Given the description of an element on the screen output the (x, y) to click on. 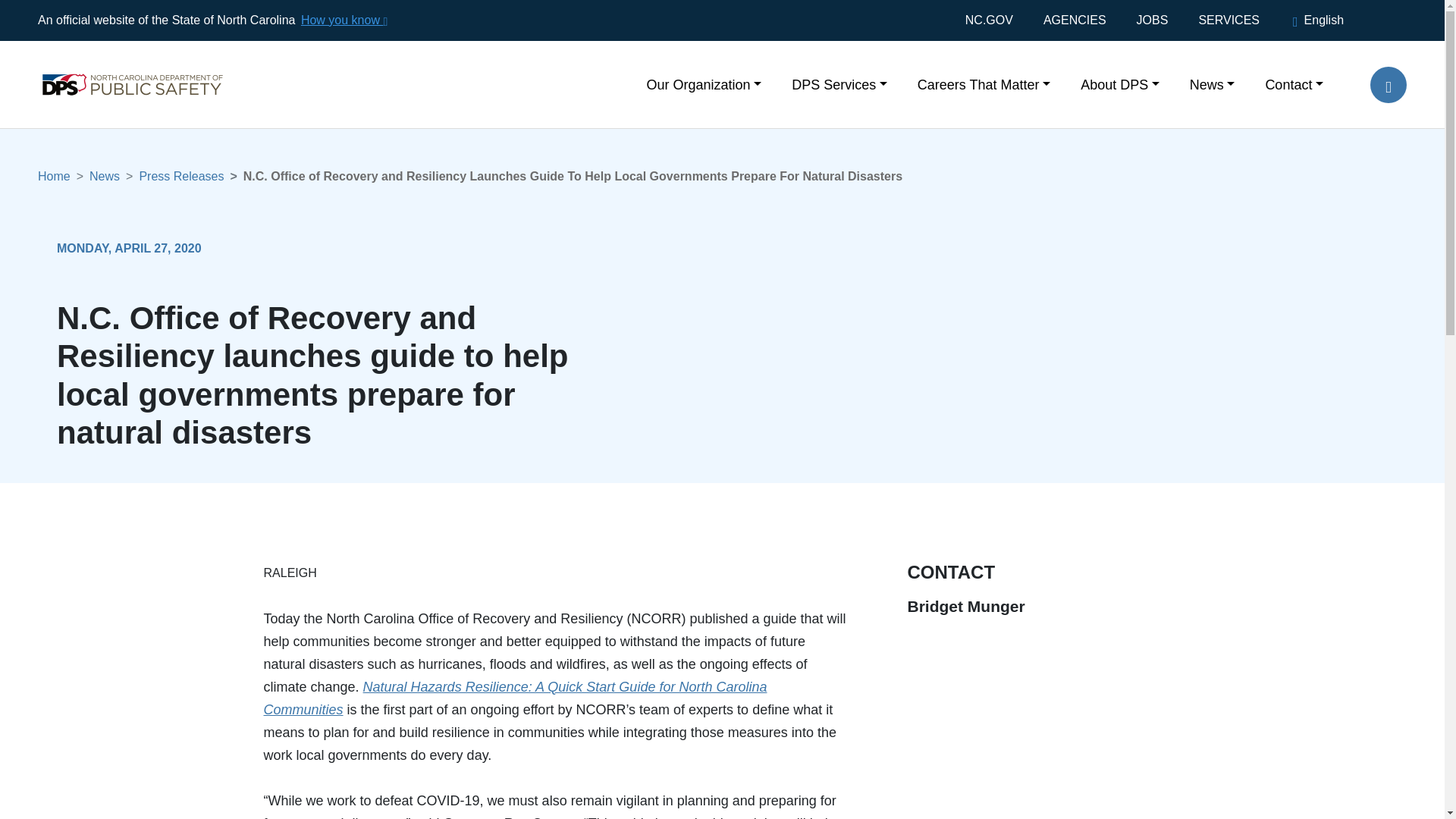
Our Organization (704, 83)
How you know (342, 20)
NC.GOV (996, 20)
SERVICES (1228, 20)
Careers That Matter (983, 83)
About DPS (1119, 83)
DPS Services (839, 83)
Home (116, 61)
Contact (1286, 83)
JOBS (1152, 20)
AGENCIES (1074, 20)
